Given the description of an element on the screen output the (x, y) to click on. 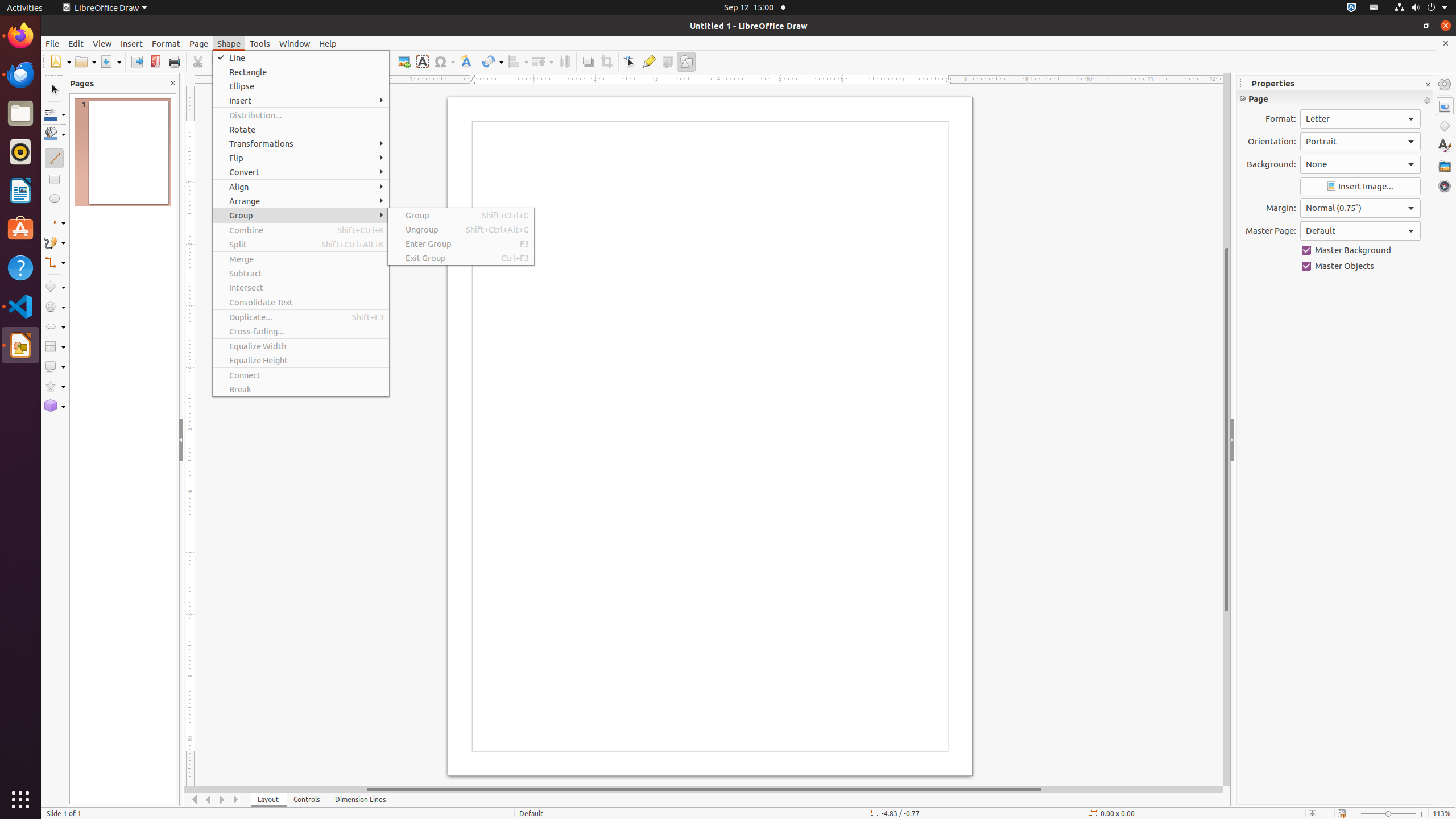
Controls Element type: page-tab (307, 799)
Layout Element type: page-tab (268, 799)
Format Element type: menu (165, 43)
Move Left Element type: push-button (208, 799)
Glue Points Element type: push-button (648, 61)
